Given the description of an element on the screen output the (x, y) to click on. 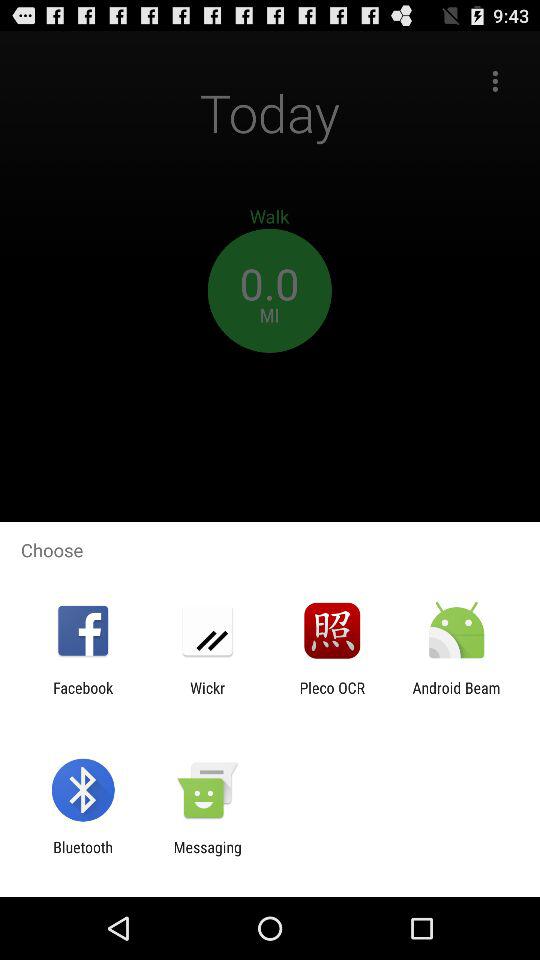
tap messaging (207, 856)
